Given the description of an element on the screen output the (x, y) to click on. 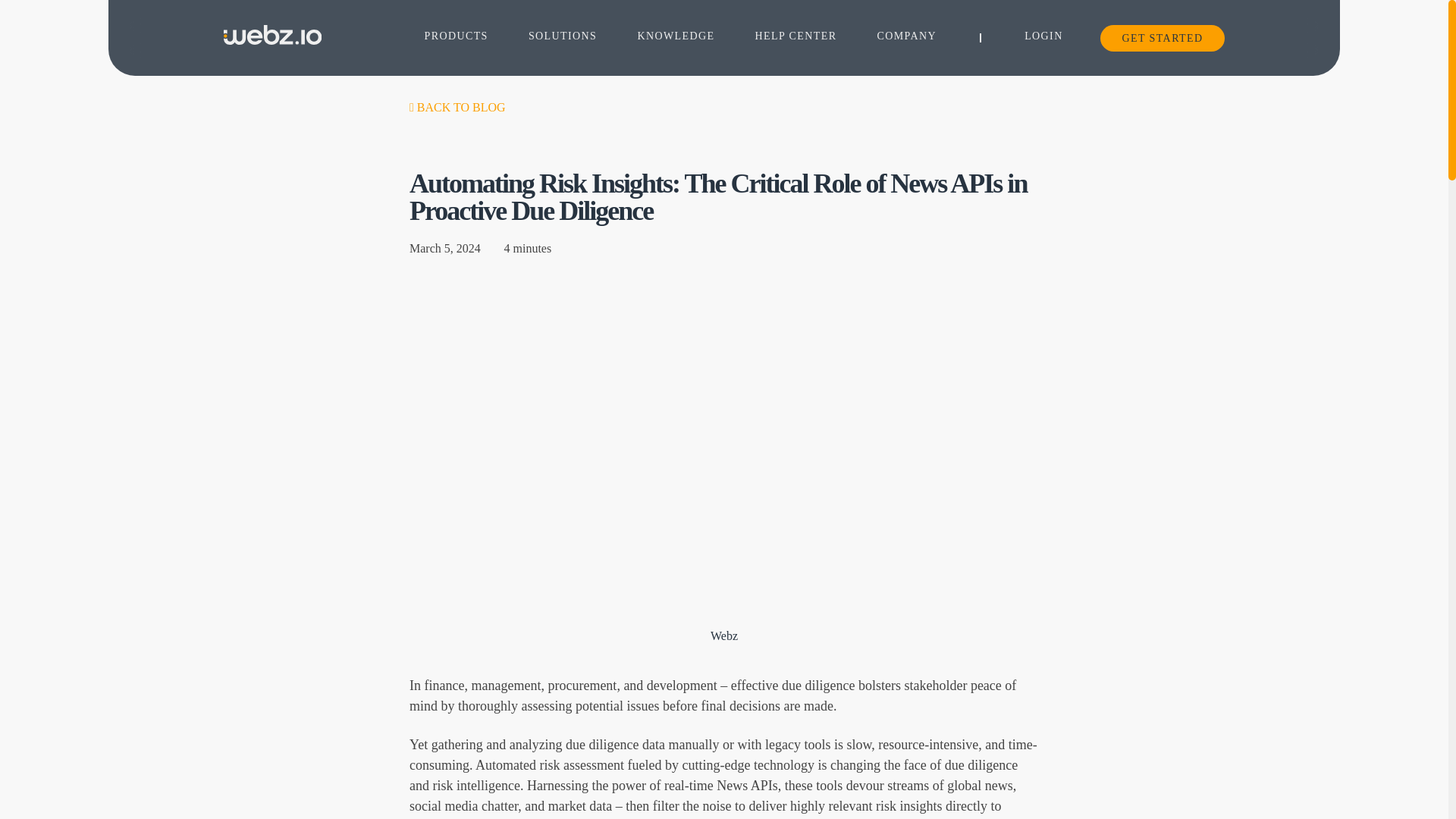
COMPANY (906, 37)
PRODUCTS (455, 37)
HELP CENTER (796, 37)
LOGIN (1043, 36)
GET STARTED (1162, 37)
KNOWLEDGE (675, 37)
SOLUTIONS (562, 37)
